Given the description of an element on the screen output the (x, y) to click on. 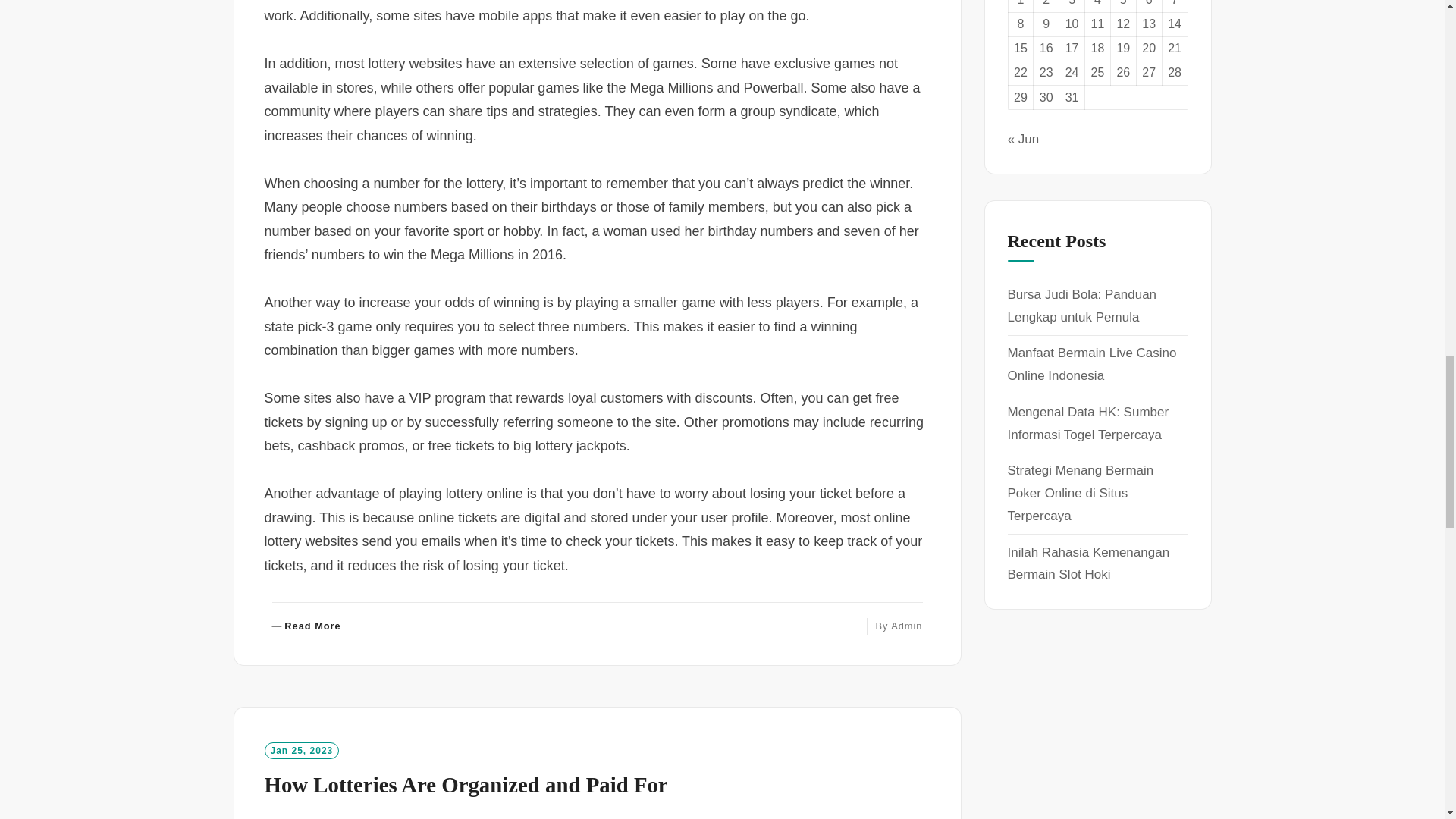
How Lotteries Are Organized and Paid For (464, 784)
Jan 25, 2023 (301, 750)
Admin (906, 625)
